Given the description of an element on the screen output the (x, y) to click on. 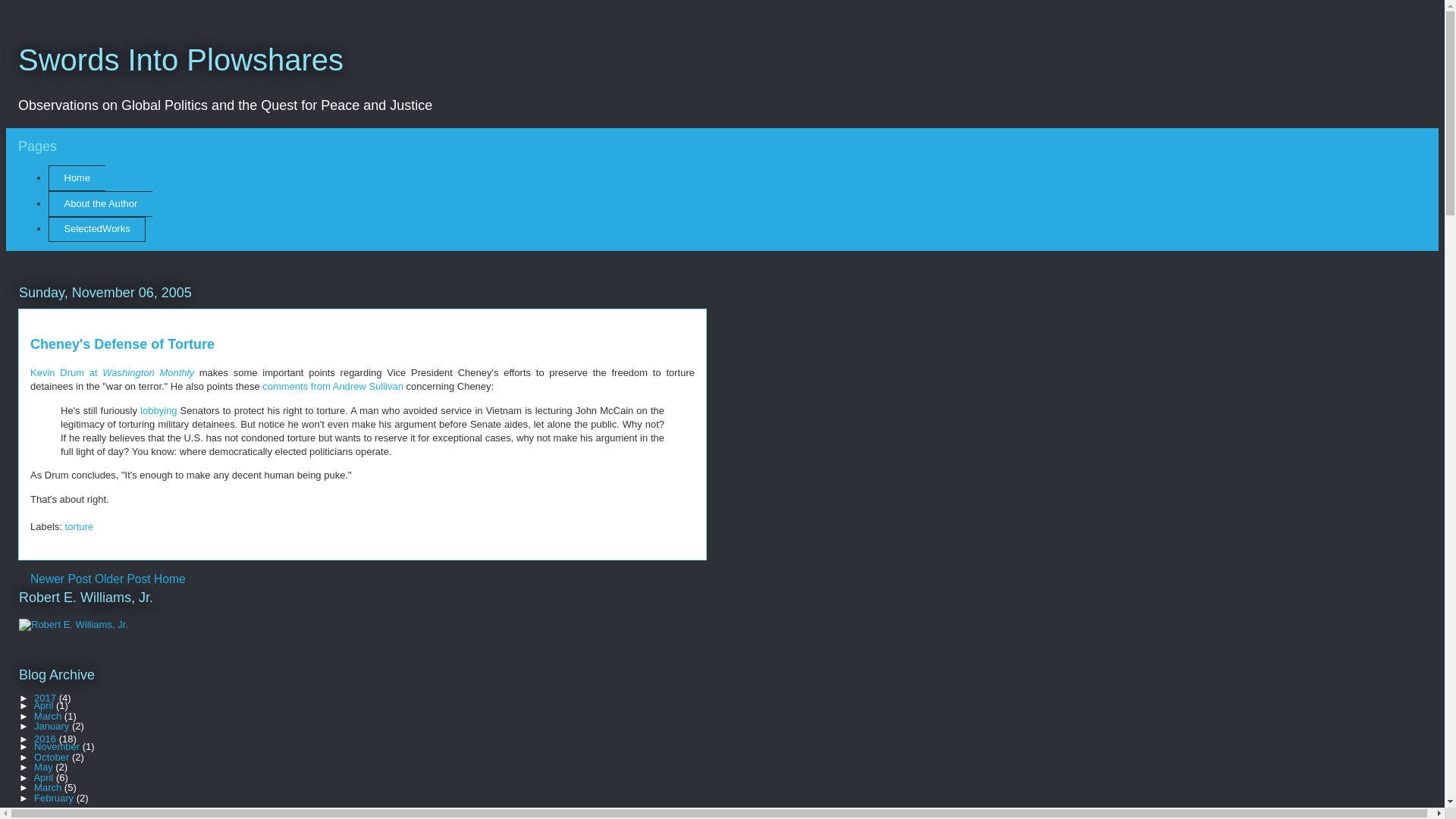
2015 (46, 810)
October (52, 756)
Home (76, 177)
Older Post (122, 578)
December (57, 816)
March (48, 787)
About the Author (100, 203)
April (44, 777)
Swords Into Plowshares (180, 59)
May (44, 767)
January (52, 726)
Newer Post (60, 578)
Newer Post (60, 578)
November (57, 746)
2017 (46, 697)
